Given the description of an element on the screen output the (x, y) to click on. 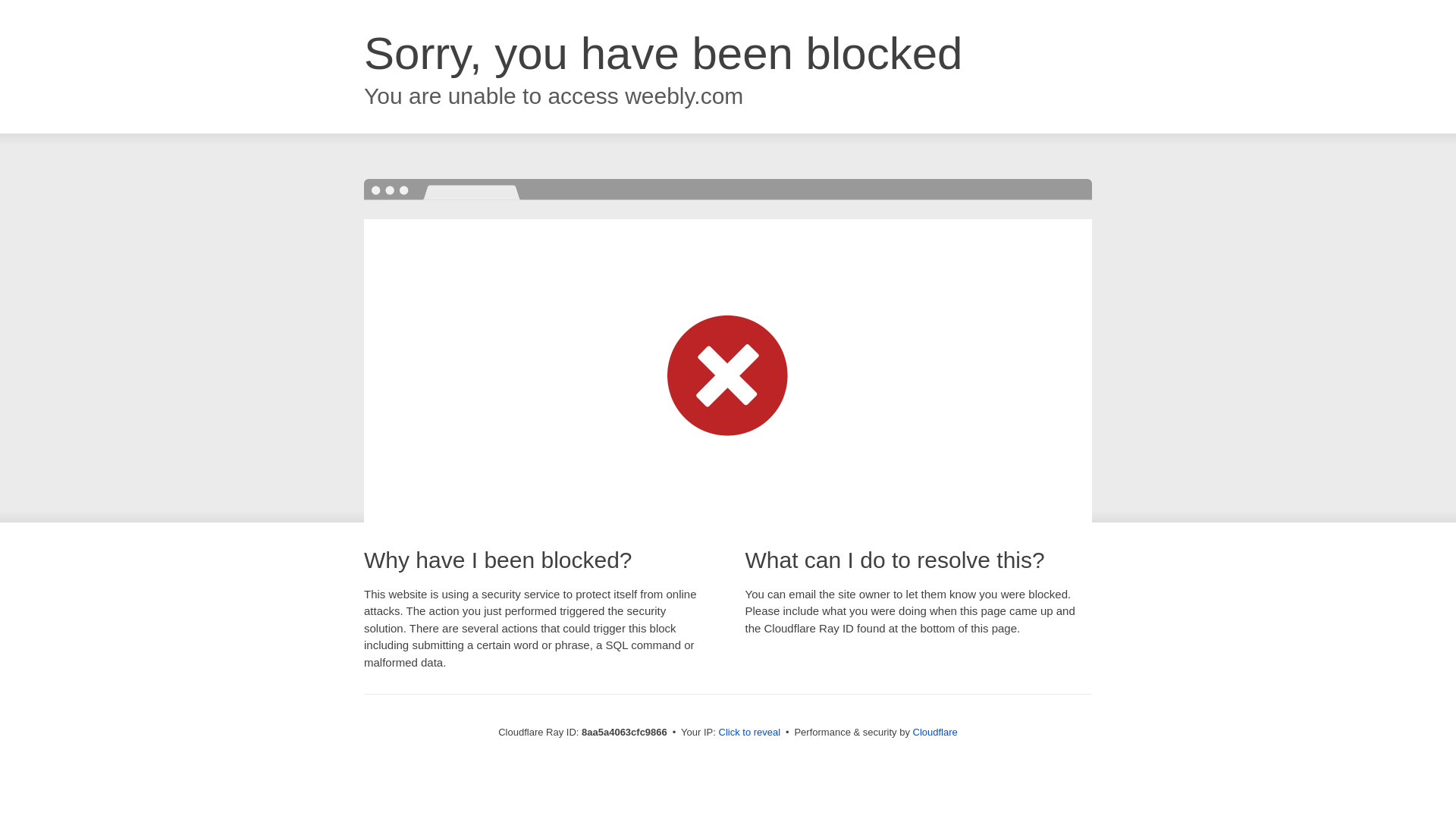
Cloudflare (935, 731)
Click to reveal (749, 732)
